Given the description of an element on the screen output the (x, y) to click on. 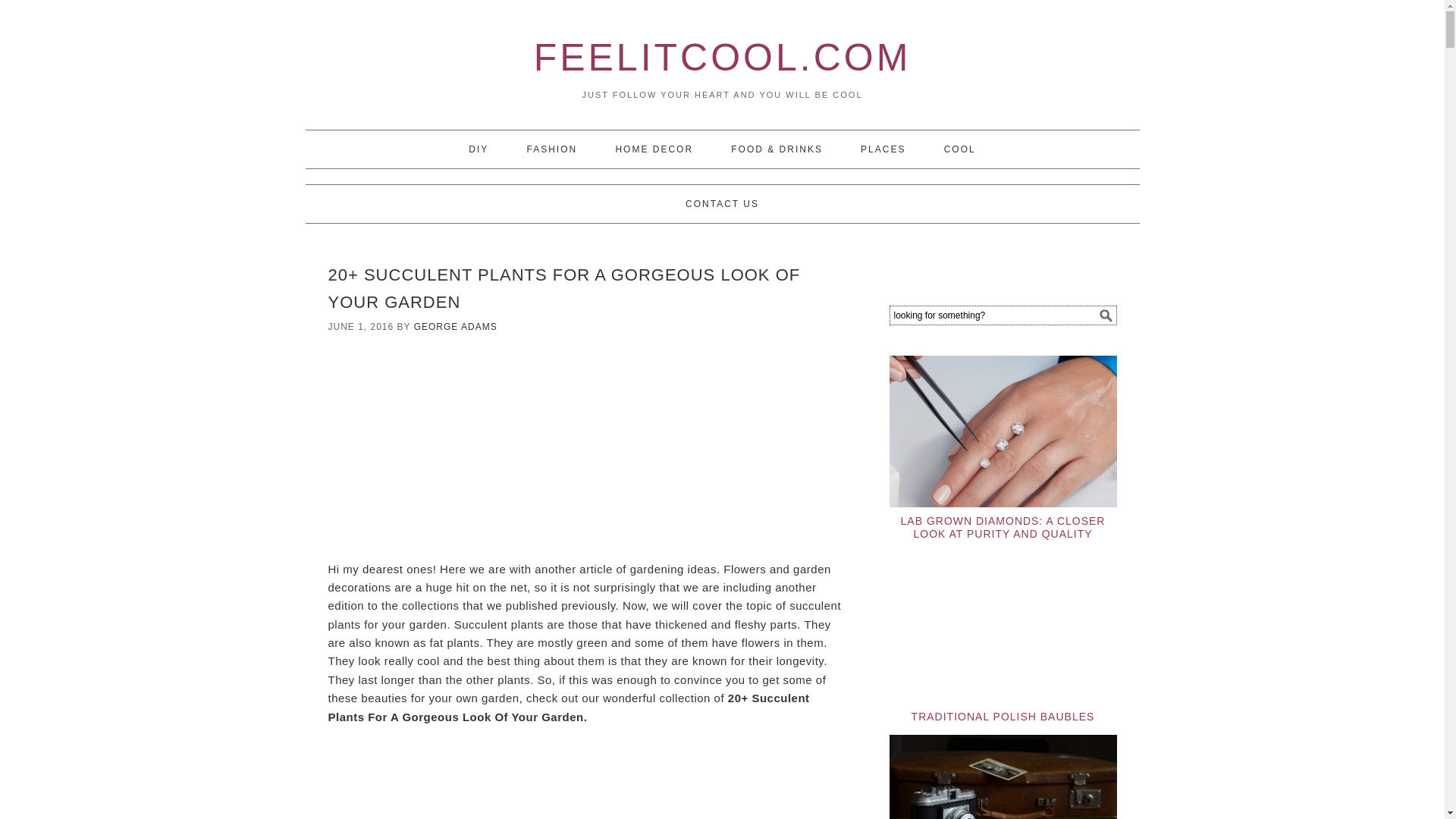
FEELITCOOL.COM (722, 57)
GEORGE ADAMS (455, 326)
FASHION (552, 149)
PLACES (882, 149)
CONTACT US (722, 203)
HOME DECOR (654, 149)
COOL (959, 149)
DIY (478, 149)
